Given the description of an element on the screen output the (x, y) to click on. 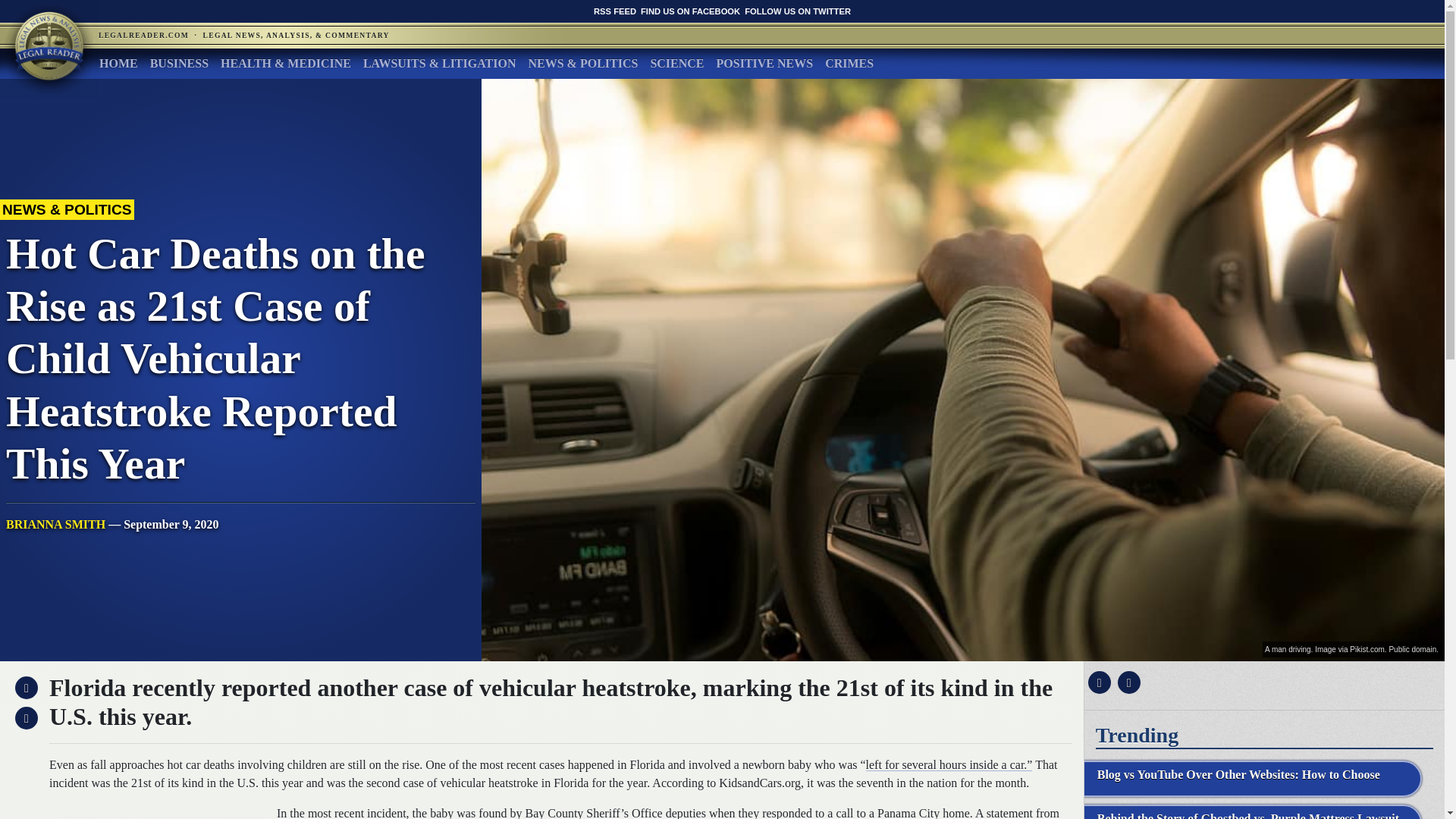
CRIMES (848, 63)
Crimes (848, 63)
HOME (118, 63)
Legal Reader News Feed (615, 10)
BRIANNA SMITH (54, 523)
Posts by Brianna Smith (54, 523)
Share on twitter (1126, 682)
FIND US ON FACEBOOK (689, 10)
Home (118, 63)
Follow Legal Reader on Twitter (797, 10)
SCIENCE (676, 63)
BUSINESS (179, 63)
FOLLOW US ON TWITTER (797, 10)
POSITIVE NEWS (764, 63)
RSS FEED (615, 10)
